Given the description of an element on the screen output the (x, y) to click on. 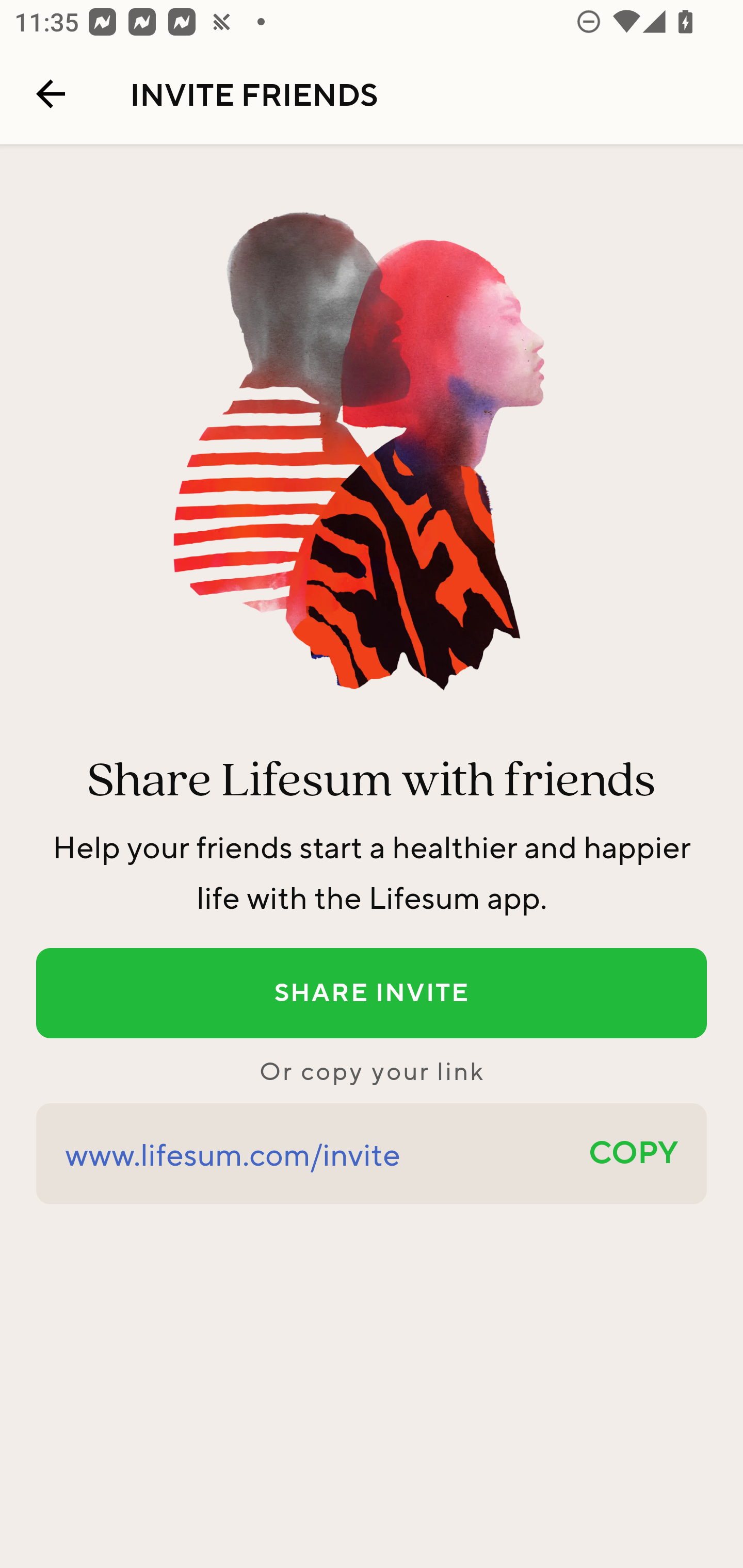
Navigate up (50, 93)
SHARE INVITE (371, 993)
COPY (633, 1153)
